Given the description of an element on the screen output the (x, y) to click on. 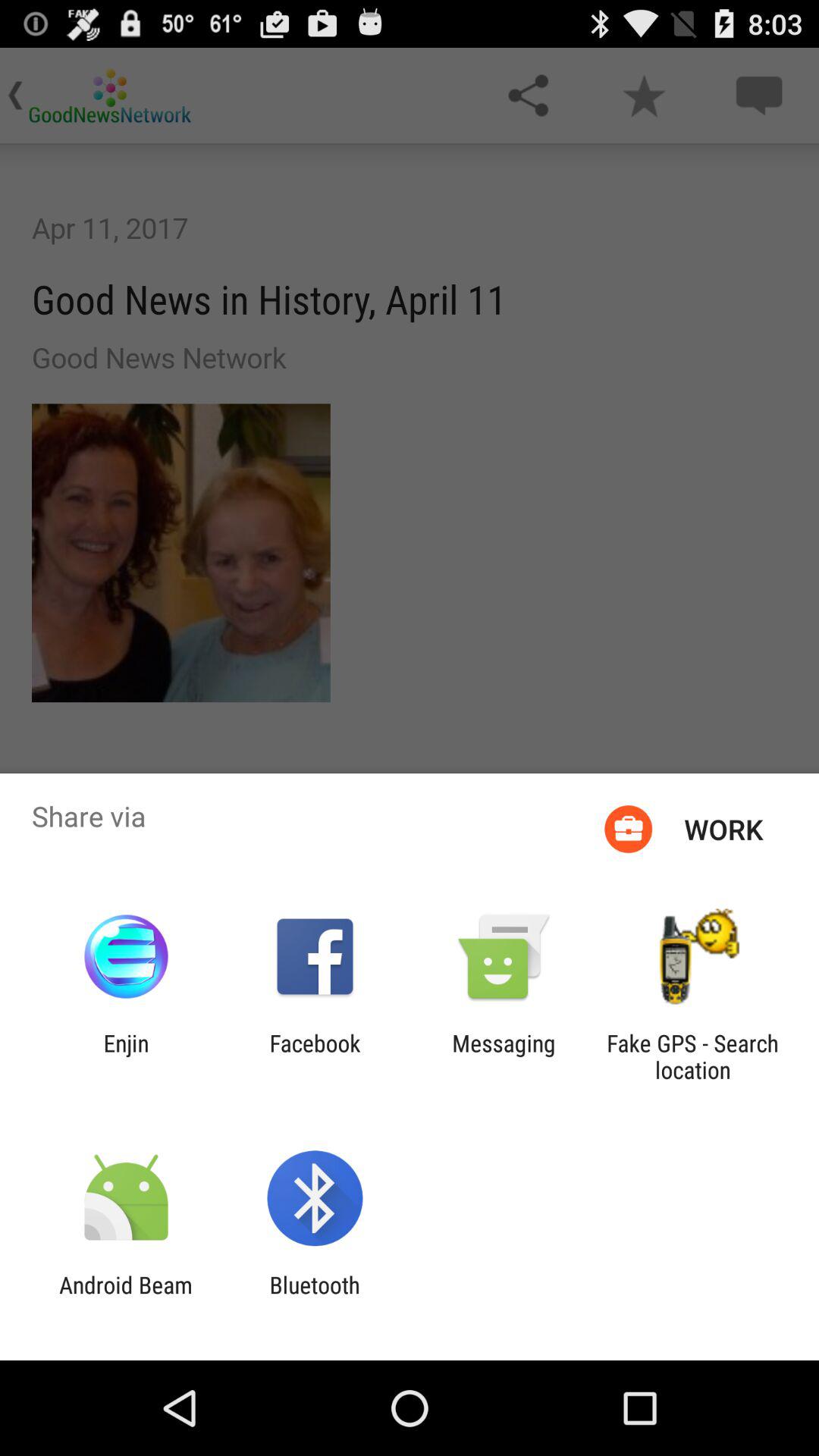
turn on fake gps search icon (692, 1056)
